Given the description of an element on the screen output the (x, y) to click on. 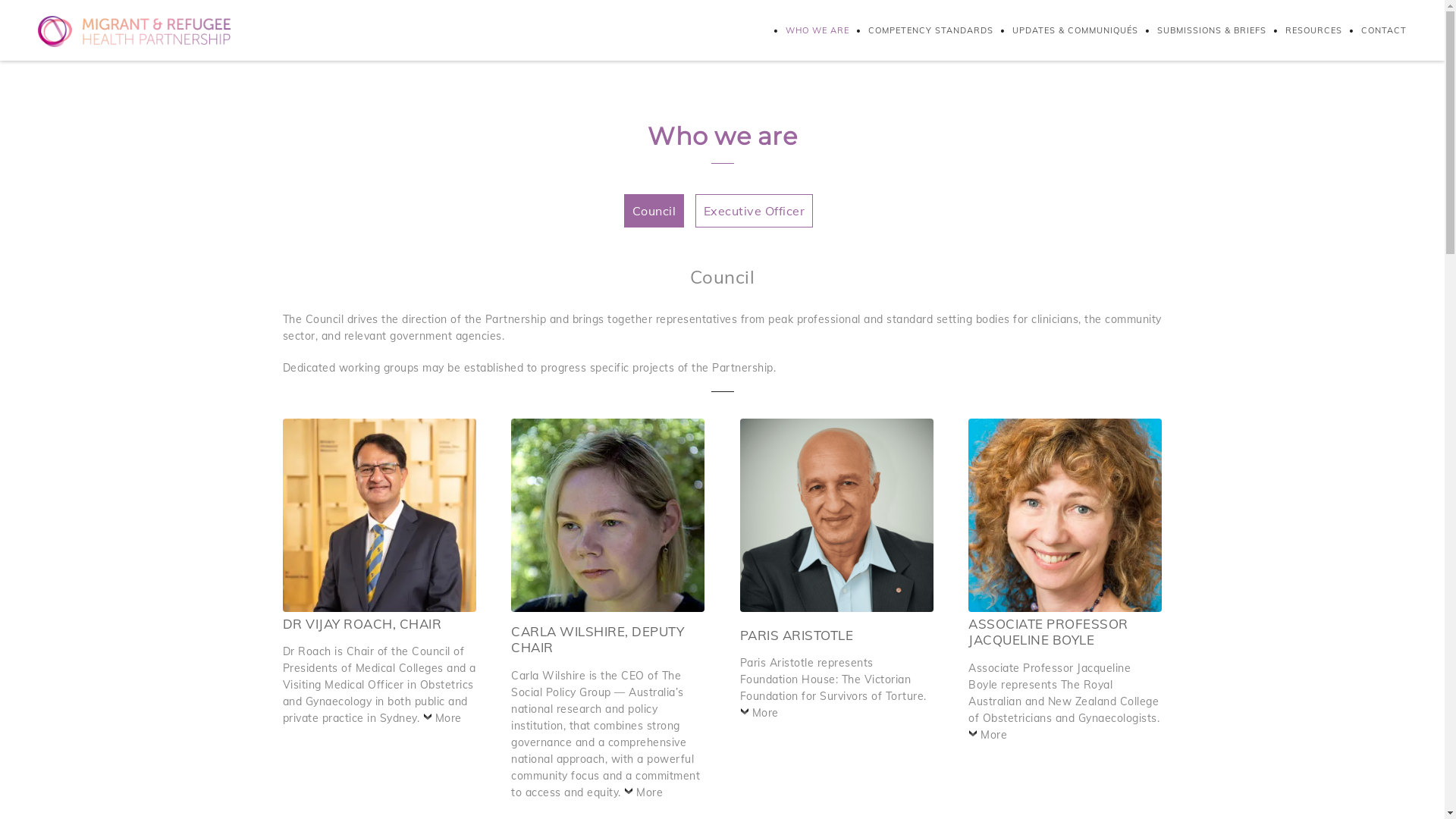
Migrant & Refugee Women's Health Partnership Element type: hover (133, 30)
RESOURCES Element type: text (1304, 30)
WHO WE ARE Element type: text (807, 30)
CONTACT Element type: text (1374, 30)
COMPETENCY STANDARDS Element type: text (921, 30)
Council Element type: text (654, 210)
SUBMISSIONS & BRIEFS Element type: text (1202, 30)
Executive Officer Element type: text (754, 210)
